Given the description of an element on the screen output the (x, y) to click on. 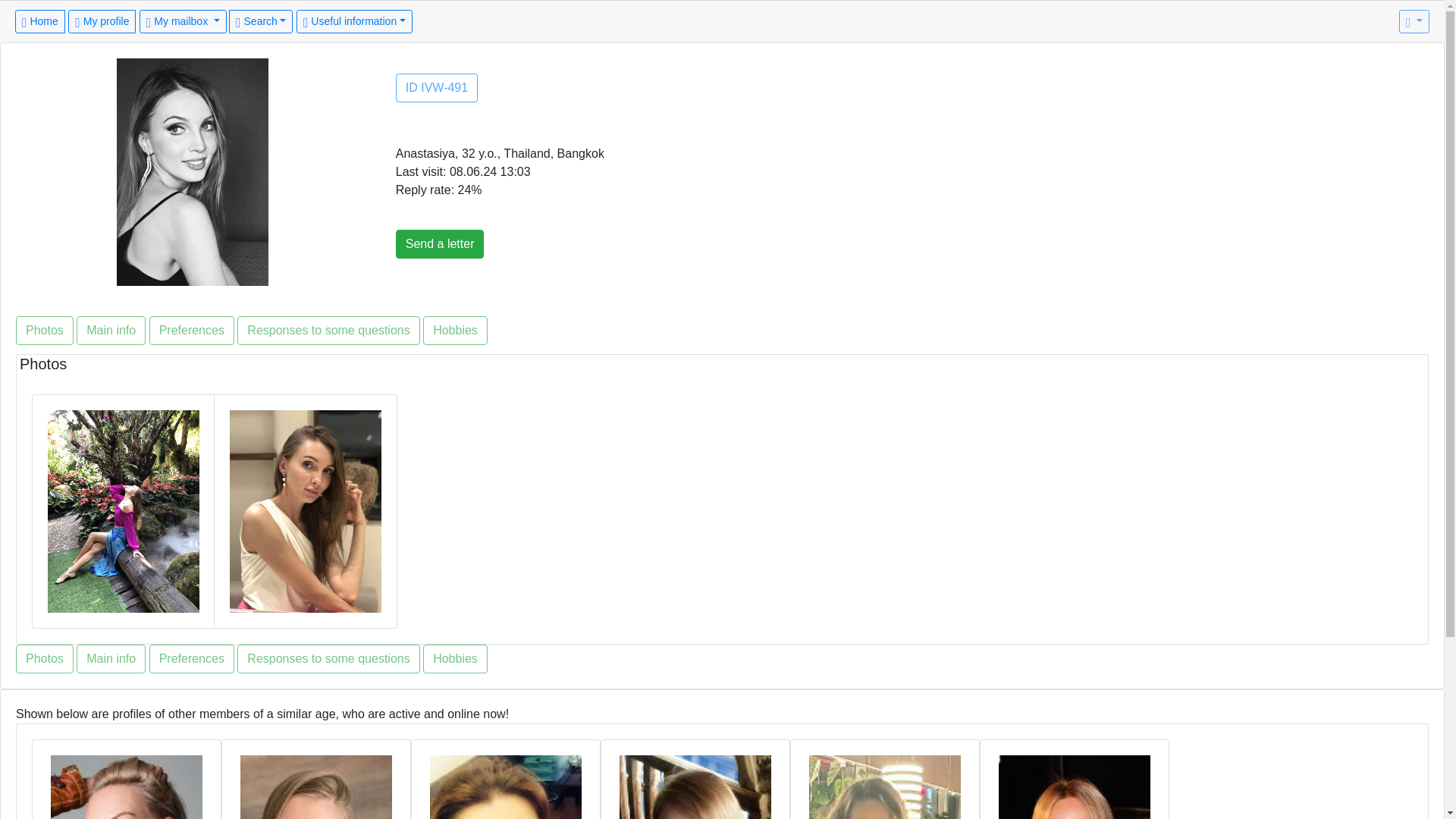
My profile (101, 21)
Search (260, 21)
Home (39, 21)
My mailbox (183, 21)
Useful information (354, 21)
